Given the description of an element on the screen output the (x, y) to click on. 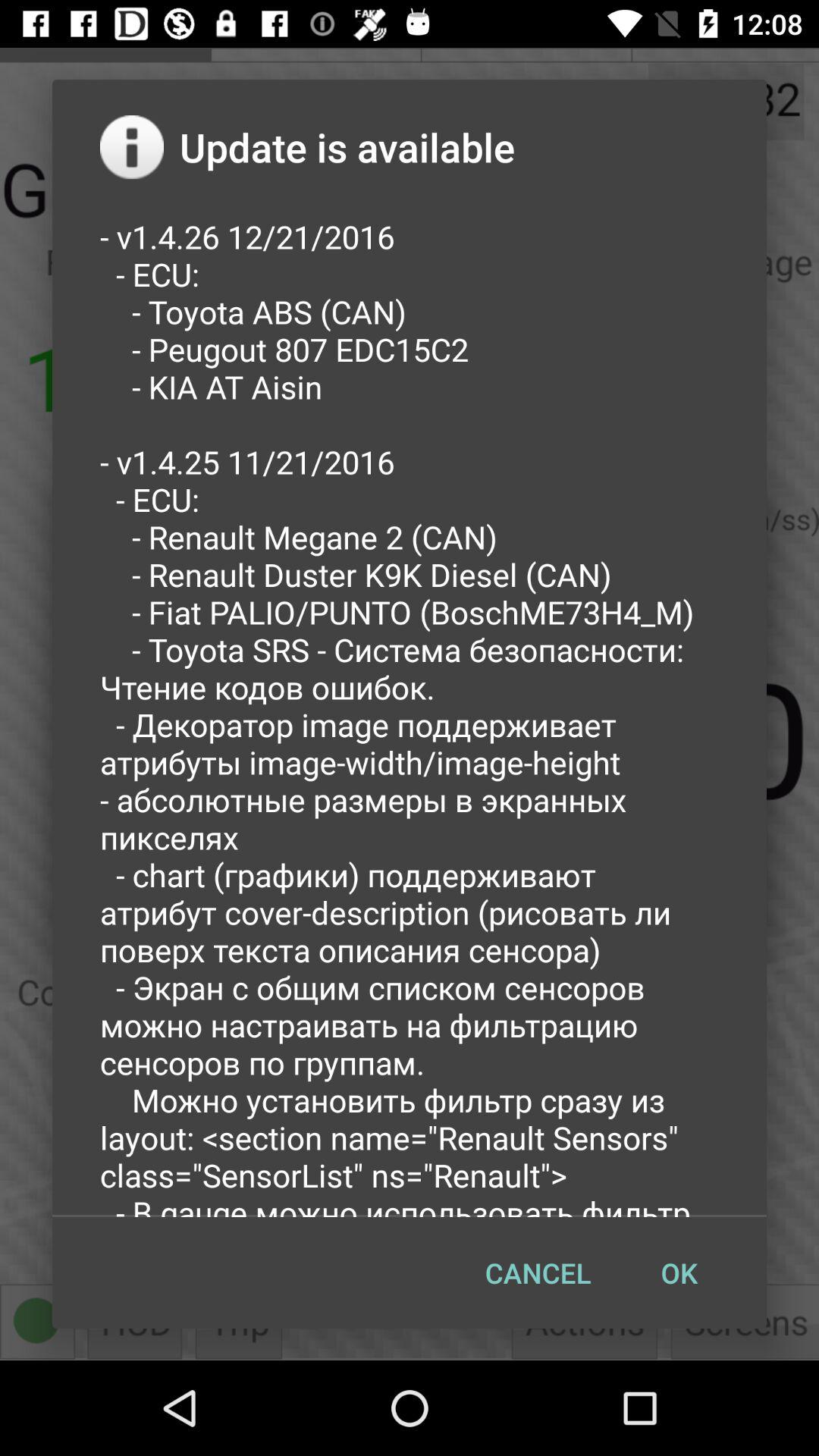
scroll until cancel item (538, 1272)
